Given the description of an element on the screen output the (x, y) to click on. 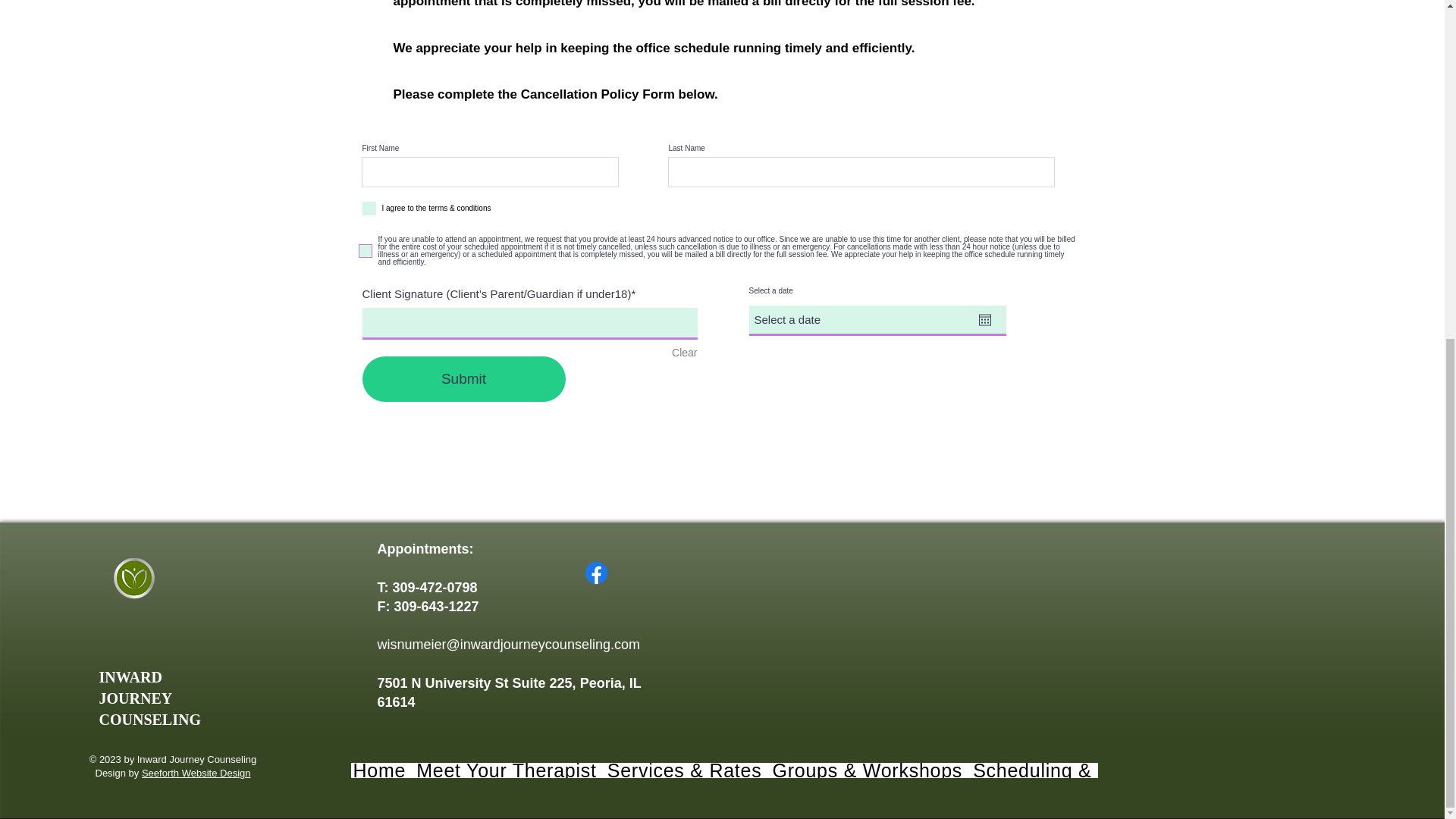
Seeforth Website Design (195, 772)
Forms (1321, 770)
Meet Your Therapist (505, 770)
Clear (684, 353)
Resources (1234, 770)
T: 309-472-0798 (427, 587)
com (627, 644)
Submit (464, 379)
Home (378, 770)
